Given the description of an element on the screen output the (x, y) to click on. 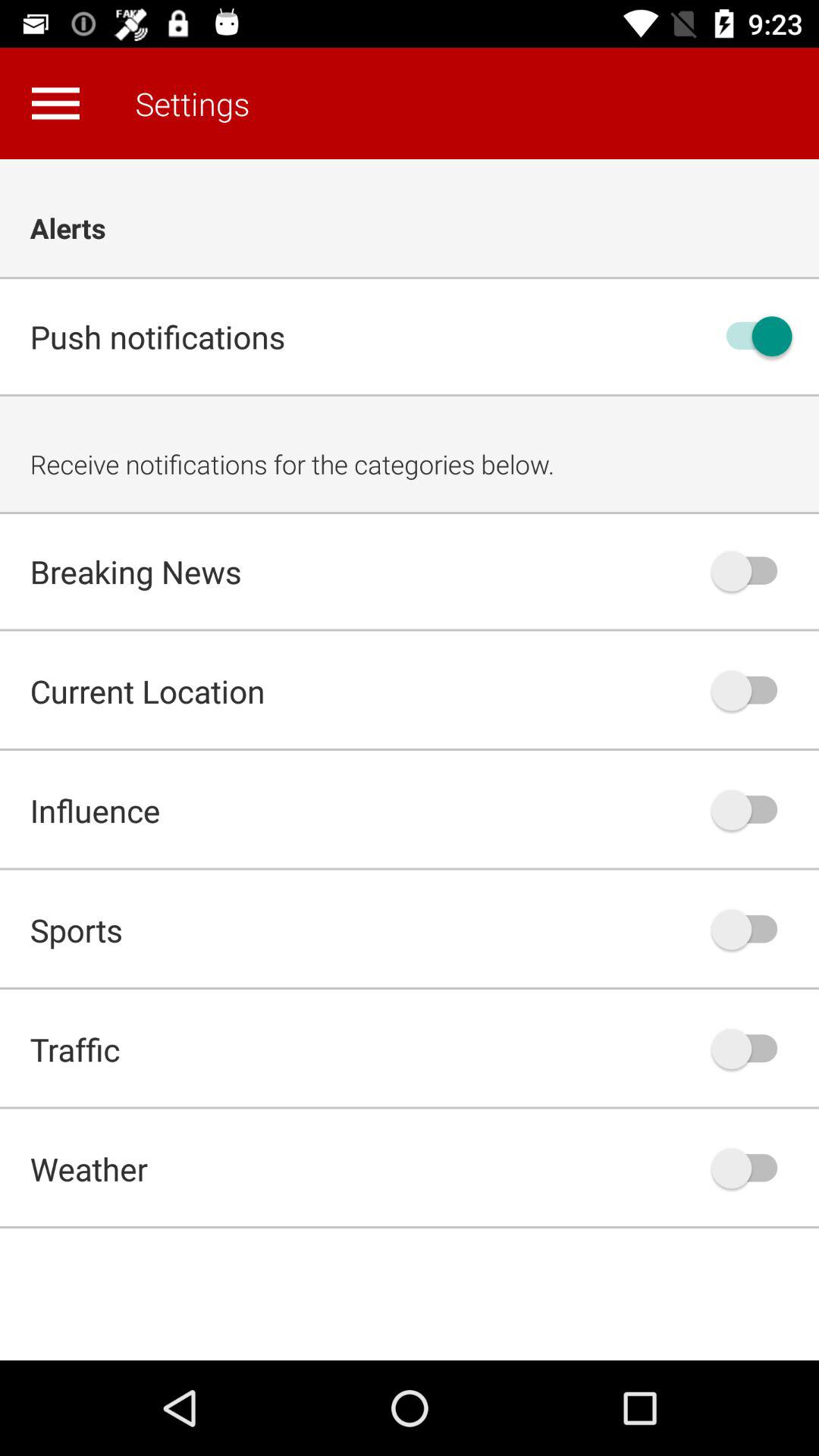
toggle traffic (751, 1049)
